Given the description of an element on the screen output the (x, y) to click on. 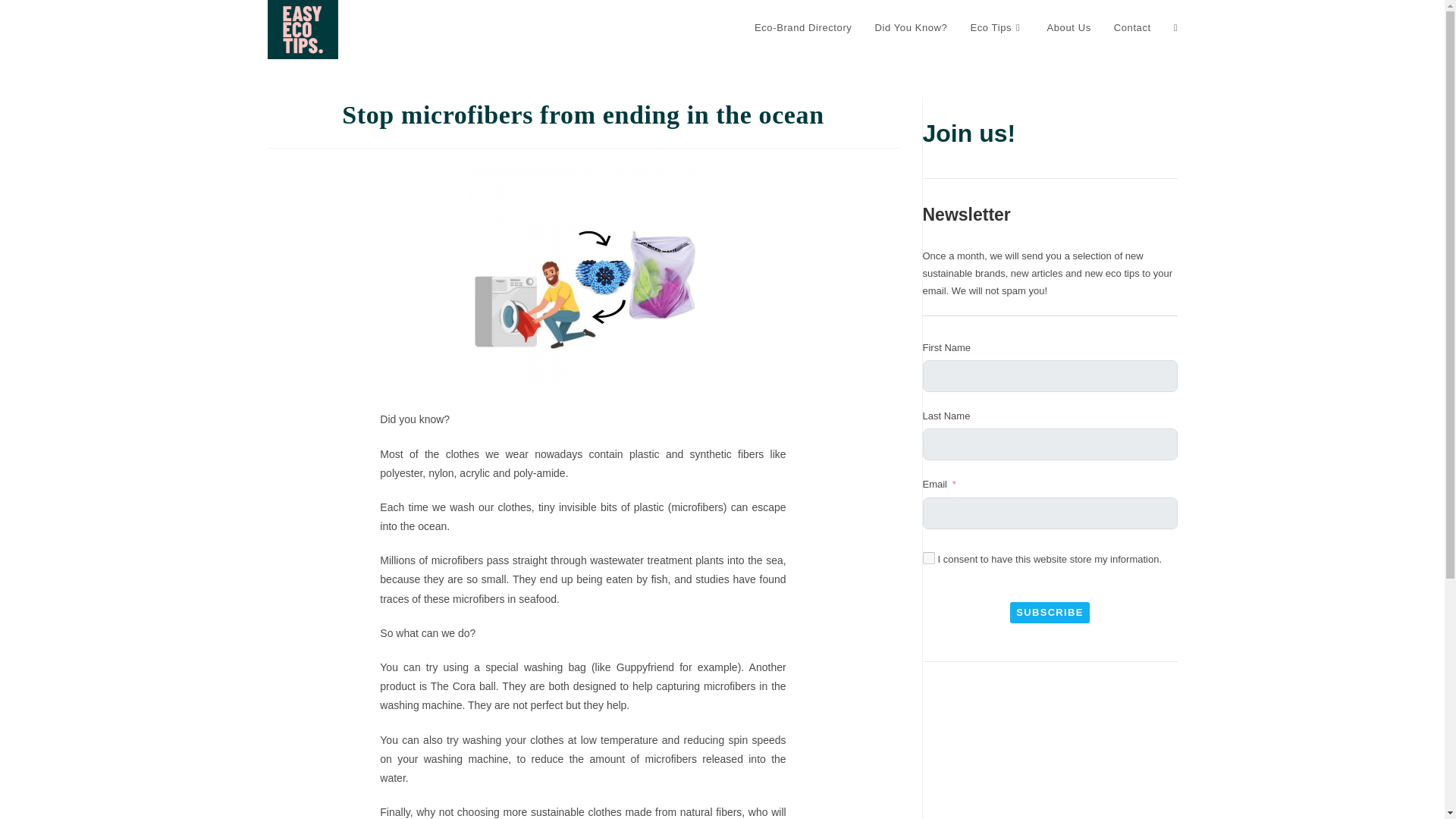
About Us (1068, 28)
Contact (1131, 28)
Did You Know? (910, 28)
Eco Tips (996, 28)
on (927, 558)
Eco-Brand Directory (802, 28)
